Given the description of an element on the screen output the (x, y) to click on. 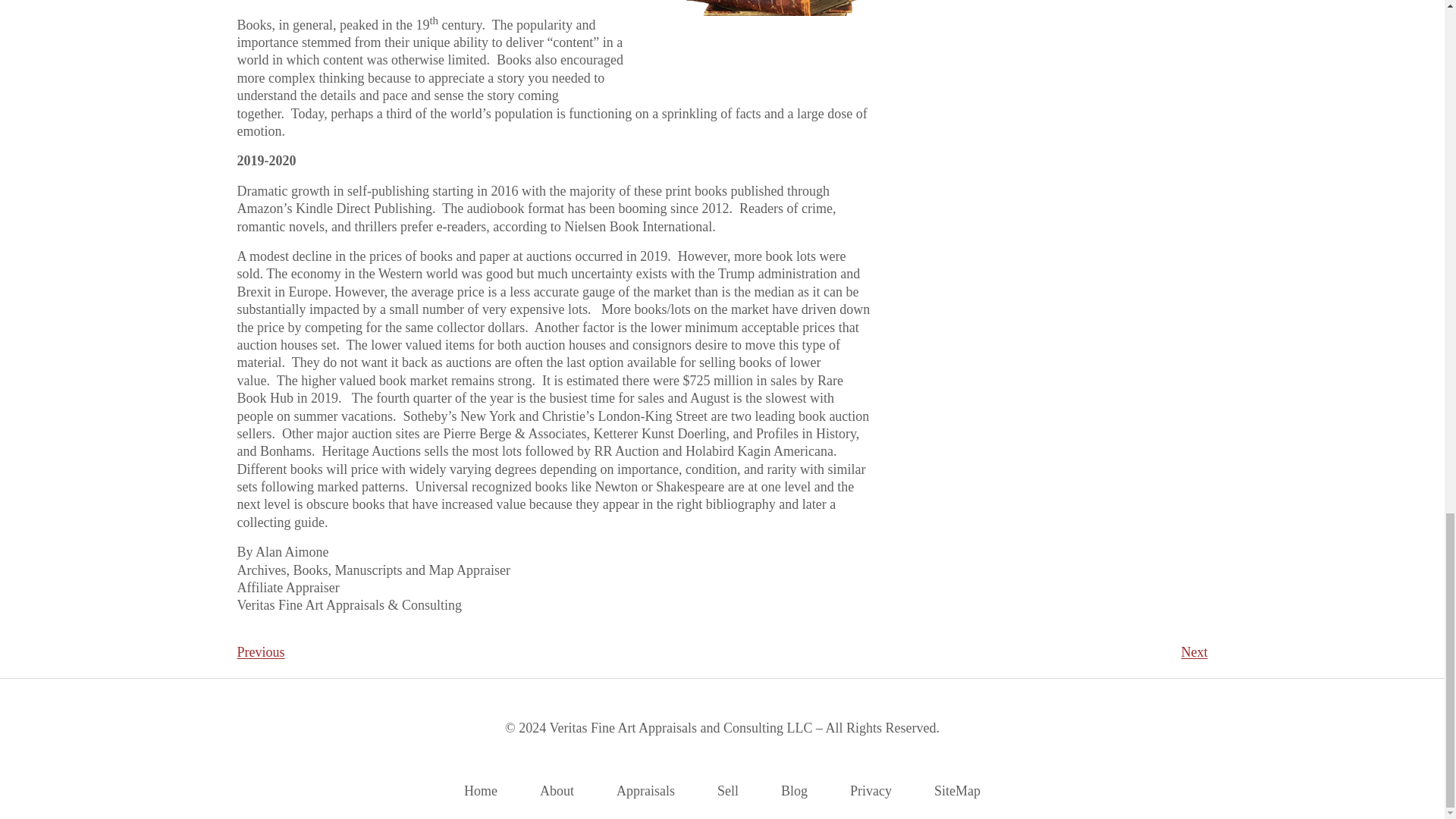
SiteMap (956, 791)
Previous (259, 652)
Next (1194, 652)
About (556, 791)
Appraisals (645, 791)
Sell (727, 791)
Privacy (870, 791)
Home (480, 791)
Blog (794, 791)
